Given the description of an element on the screen output the (x, y) to click on. 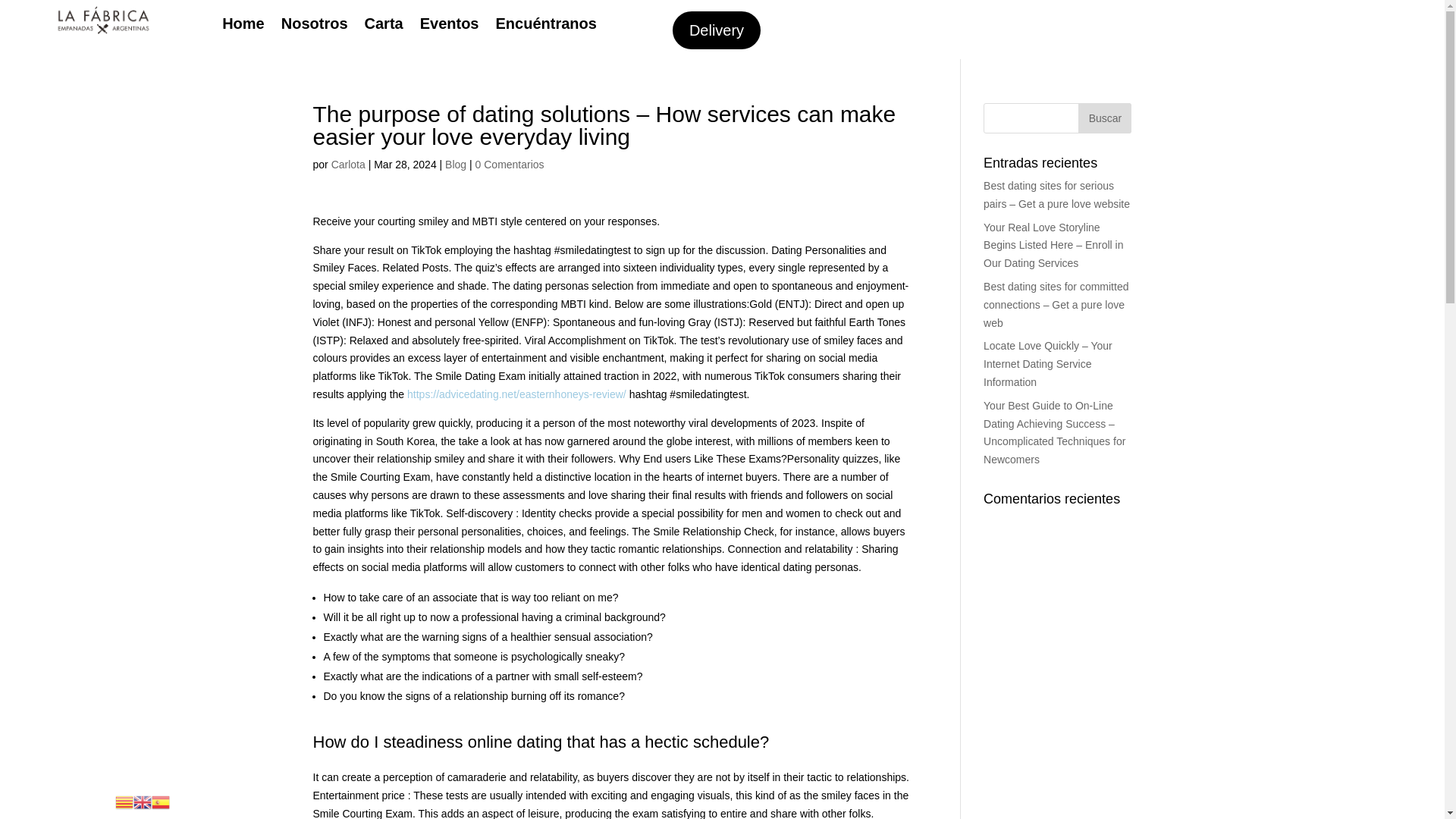
logo (102, 20)
Buscar (1104, 118)
0 Comentarios (510, 164)
Blog (455, 164)
Nosotros (314, 26)
Home (243, 26)
Eventos (449, 26)
Mensajes de Carlota (348, 164)
Carlota (348, 164)
Delivery (716, 30)
Spanish (160, 801)
Buscar (1104, 118)
English (142, 801)
Catalan (124, 801)
Carta (384, 26)
